Given the description of an element on the screen output the (x, y) to click on. 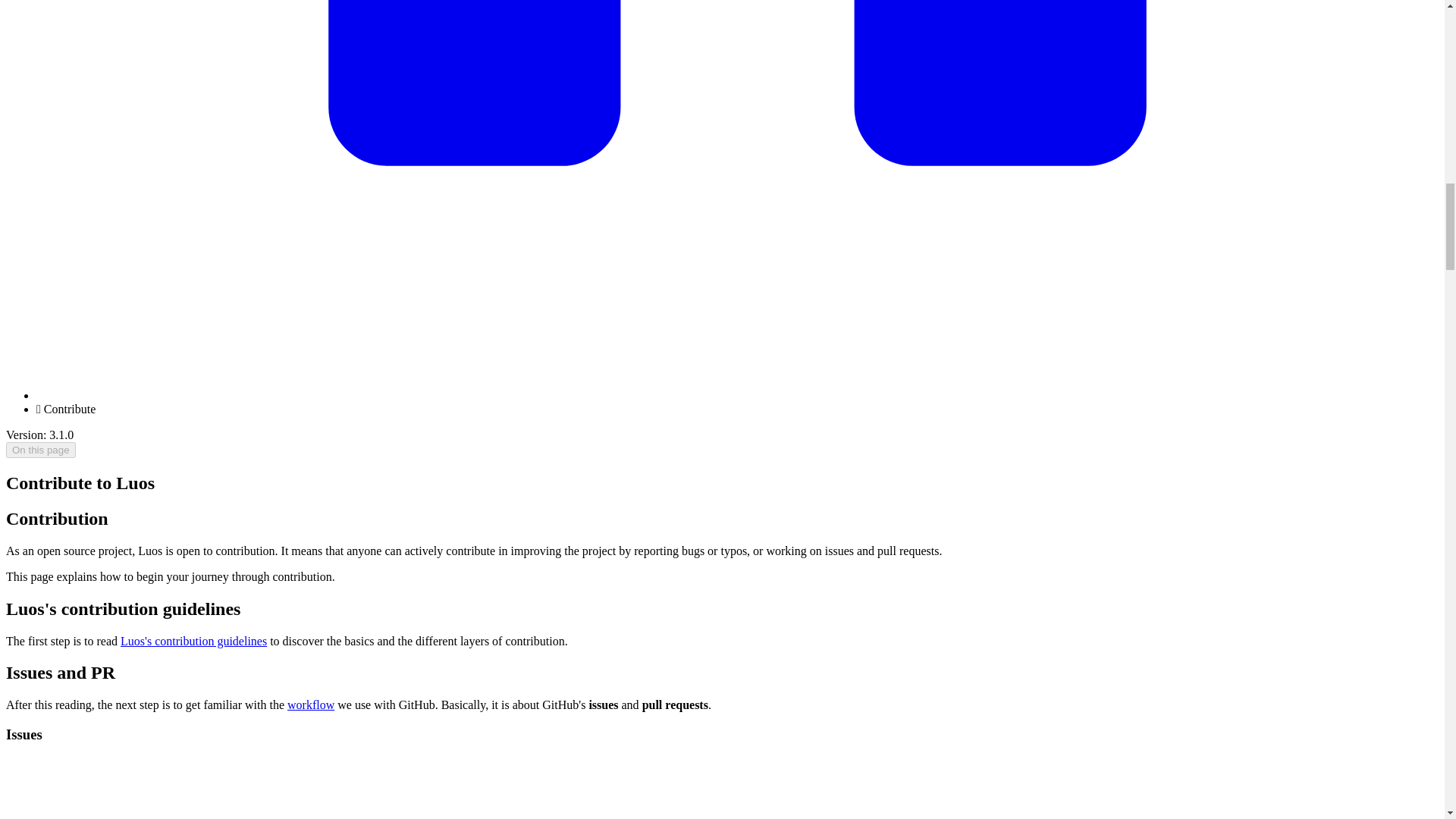
On this page (40, 449)
